Given the description of an element on the screen output the (x, y) to click on. 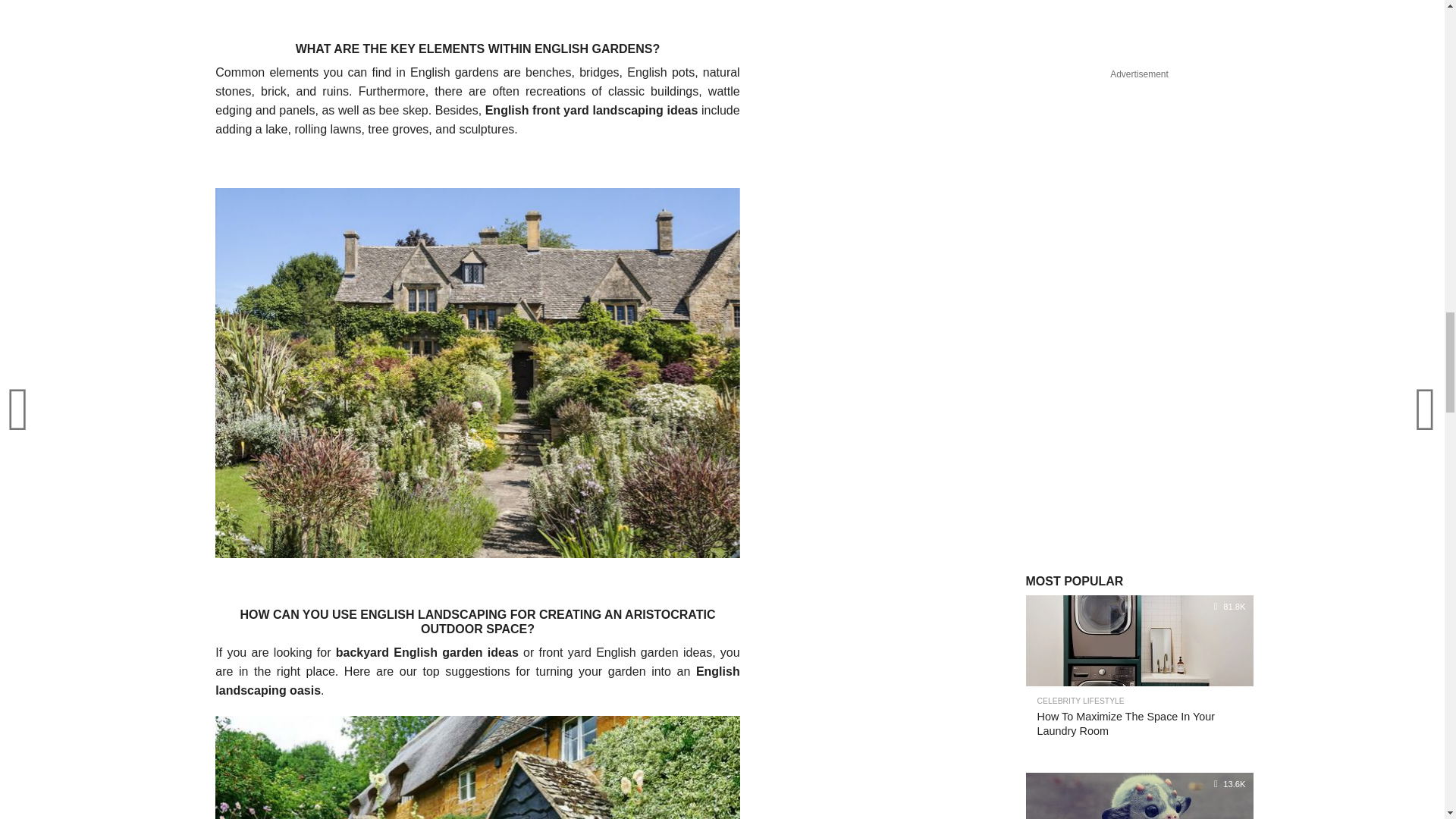
English cottage garden (477, 767)
